Given the description of an element on the screen output the (x, y) to click on. 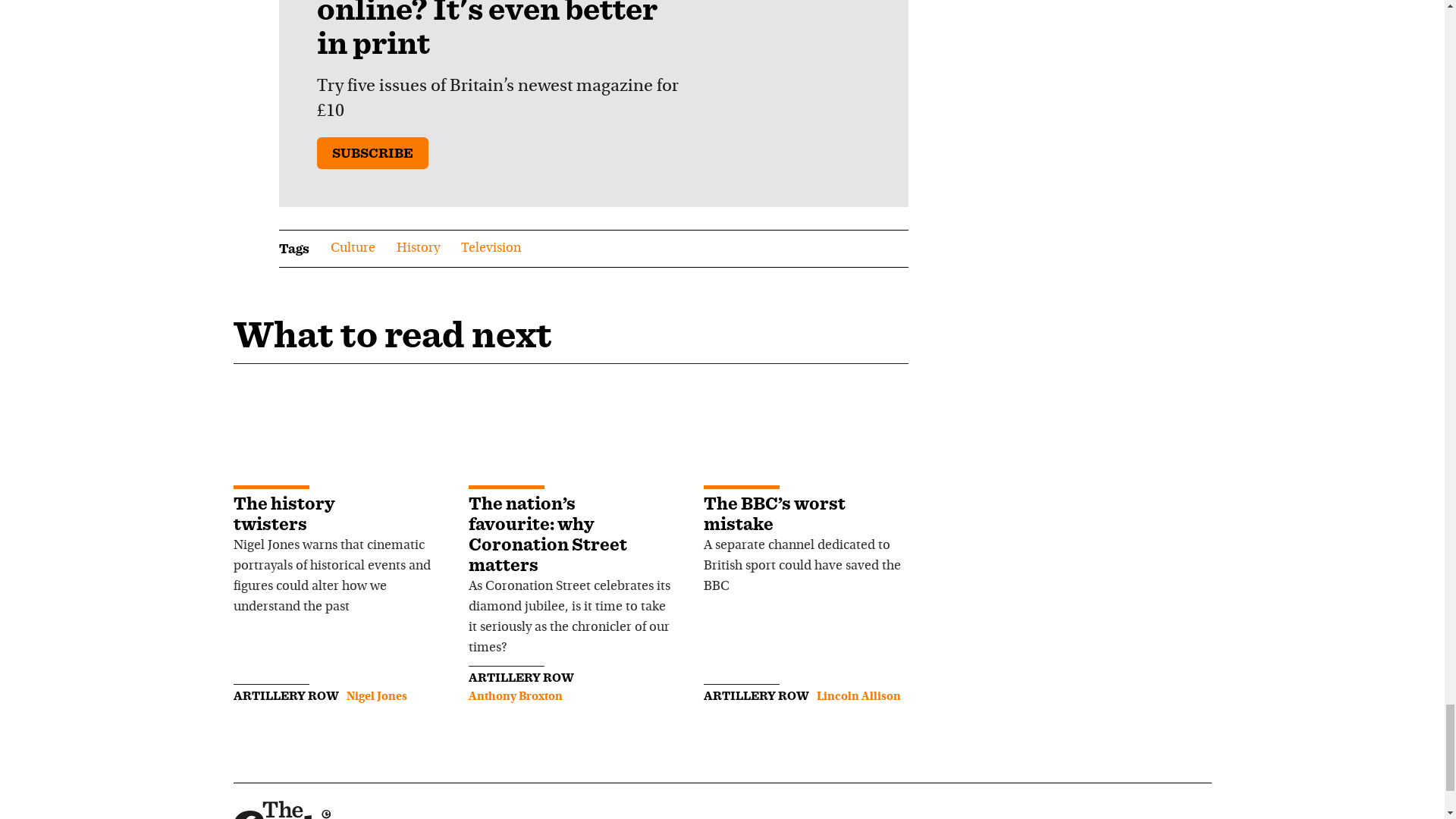
Posts by Lincoln Allison (857, 696)
History (417, 248)
Posts by Anthony Broxton (515, 696)
Nigel Jones (376, 696)
The history twisters (283, 513)
Culture (352, 248)
Anthony Broxton (515, 696)
Television (491, 248)
Posts by Nigel Jones (376, 696)
SUBSCRIBE (372, 152)
ARTILLERY ROW (520, 677)
ARTILLERY ROW (285, 695)
